Given the description of an element on the screen output the (x, y) to click on. 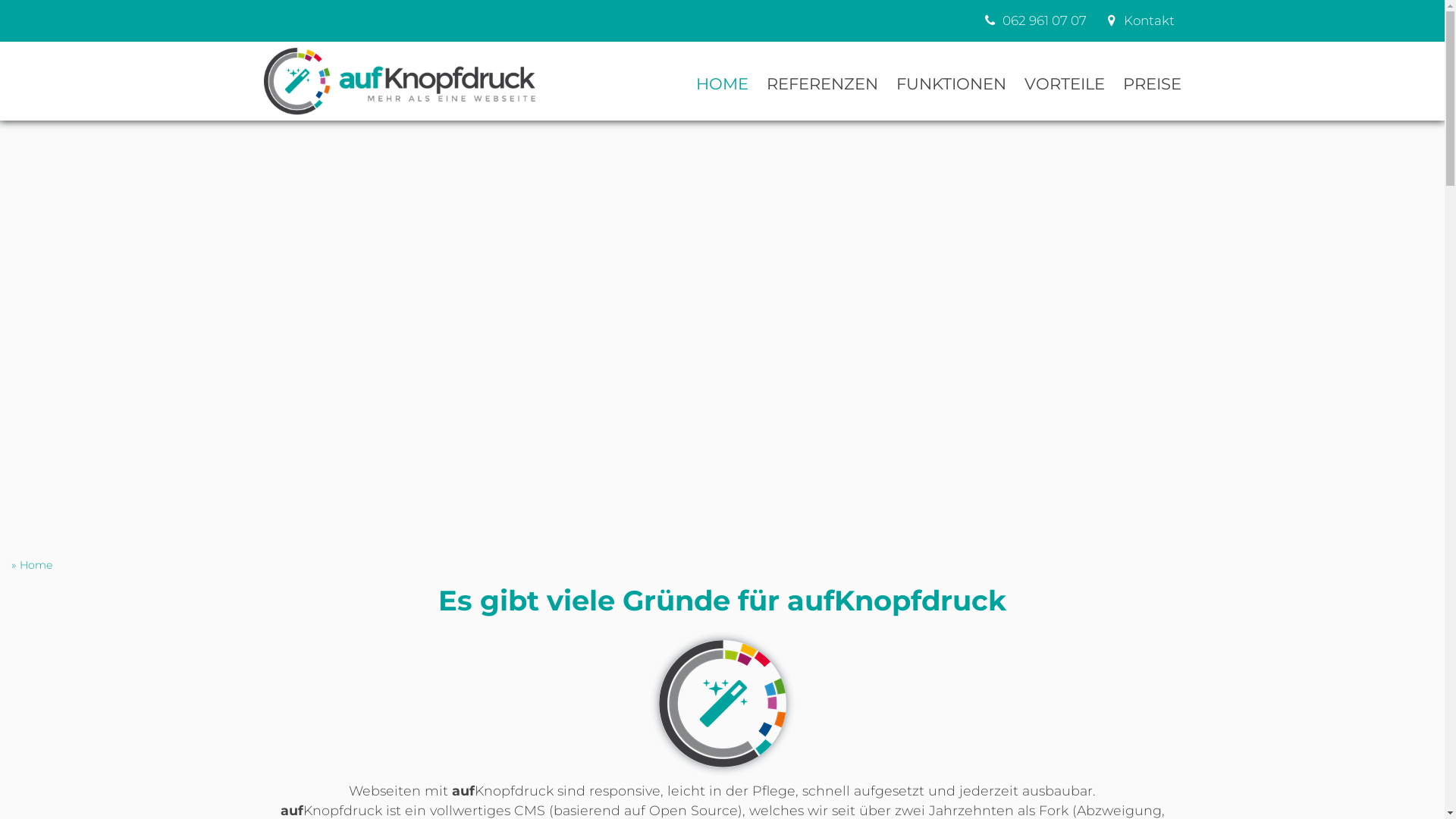
REFERENZEN Element type: text (821, 80)
HOME Element type: text (722, 80)
VORTEILE Element type: text (1063, 80)
062 961 07 07 Element type: text (1034, 20)
FUNKTIONEN Element type: text (951, 80)
Kontakt Element type: text (1138, 20)
Home Element type: text (35, 565)
PREISE Element type: text (1151, 80)
